Given the description of an element on the screen output the (x, y) to click on. 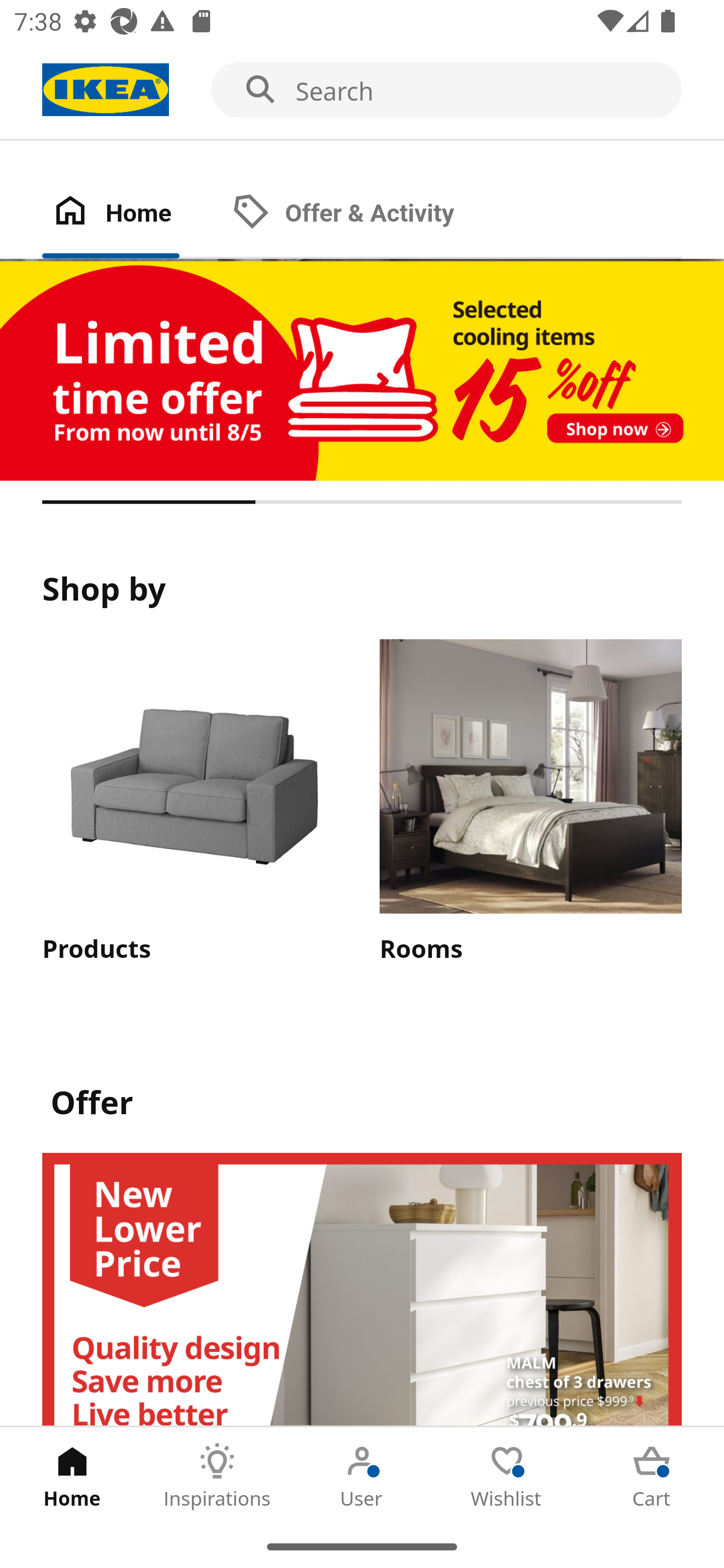
Search (361, 90)
Home
Tab 1 of 2 (131, 213)
Offer & Activity
Tab 2 of 2 (363, 213)
Products (192, 802)
Rooms (530, 802)
Home
Tab 1 of 5 (72, 1476)
Inspirations
Tab 2 of 5 (216, 1476)
User
Tab 3 of 5 (361, 1476)
Wishlist
Tab 4 of 5 (506, 1476)
Cart
Tab 5 of 5 (651, 1476)
